Given the description of an element on the screen output the (x, y) to click on. 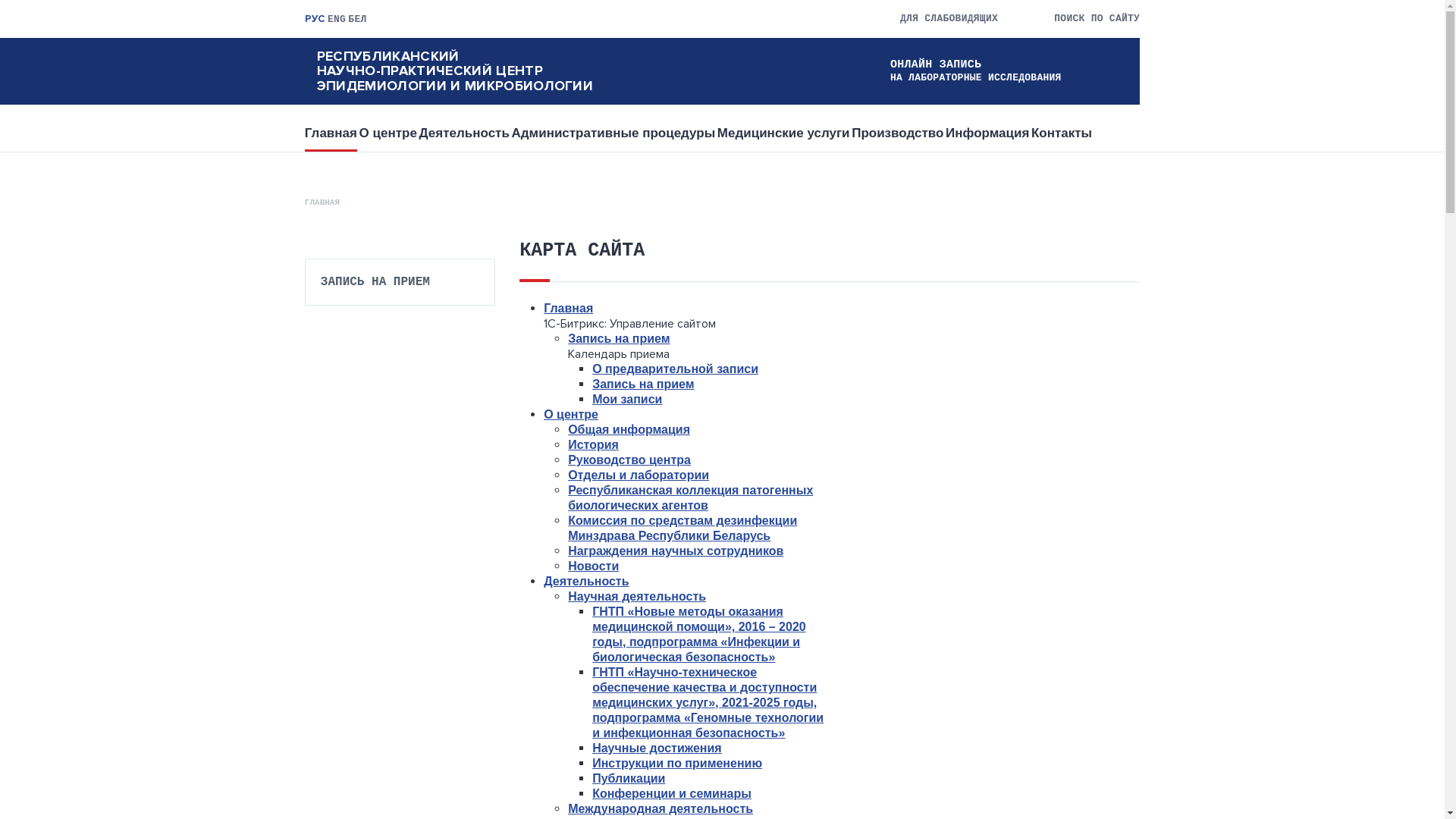
ENG Element type: text (336, 19)
